Given the description of an element on the screen output the (x, y) to click on. 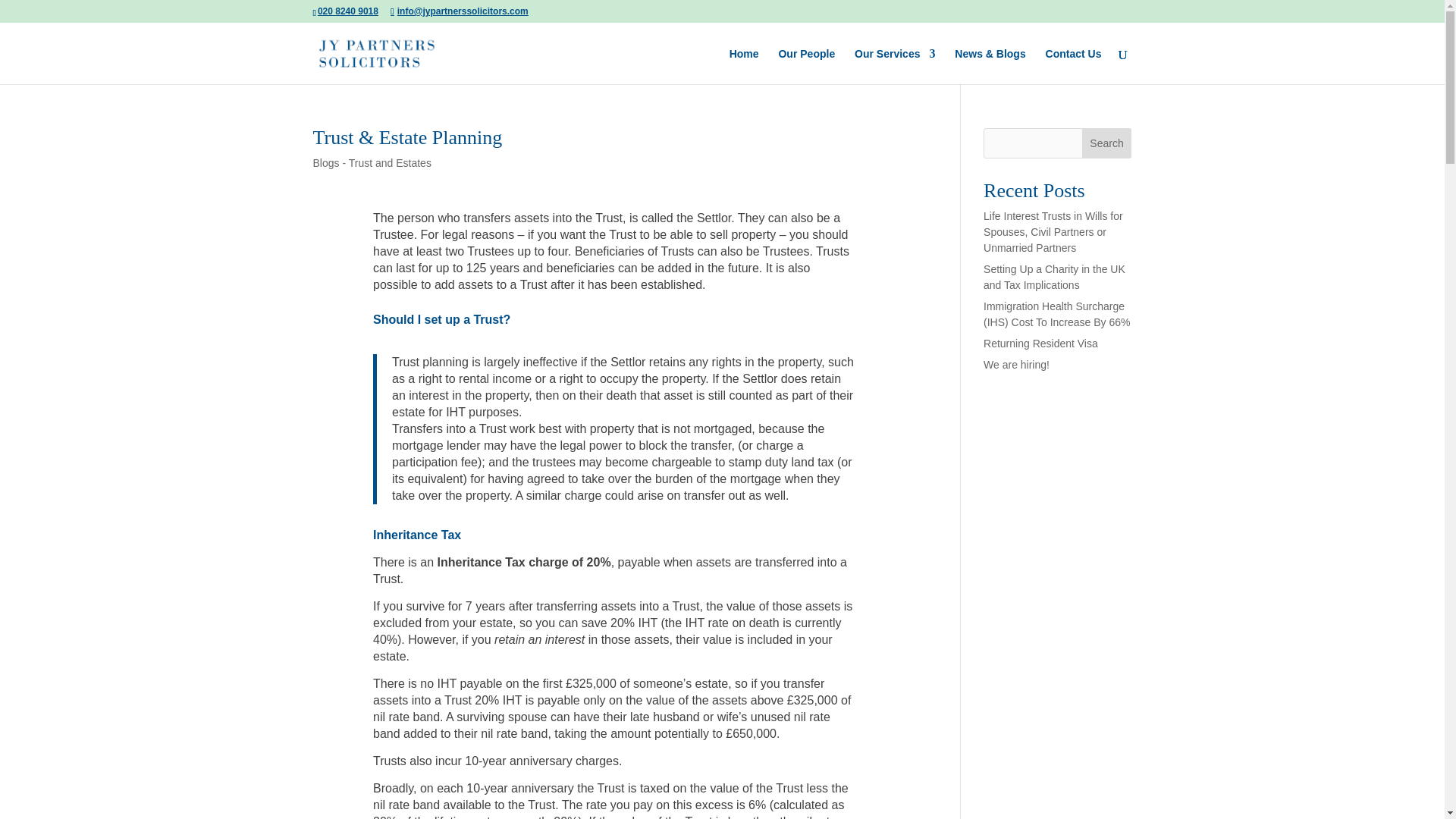
020 8240 9018 (347, 10)
Returning Resident Visa (1040, 343)
Blogs - Trust and Estates (371, 162)
Search (1106, 142)
Our Services (894, 66)
Contact Us (1073, 66)
Our People (805, 66)
Setting Up a Charity in the UK and Tax Implications (1054, 276)
